Given the description of an element on the screen output the (x, y) to click on. 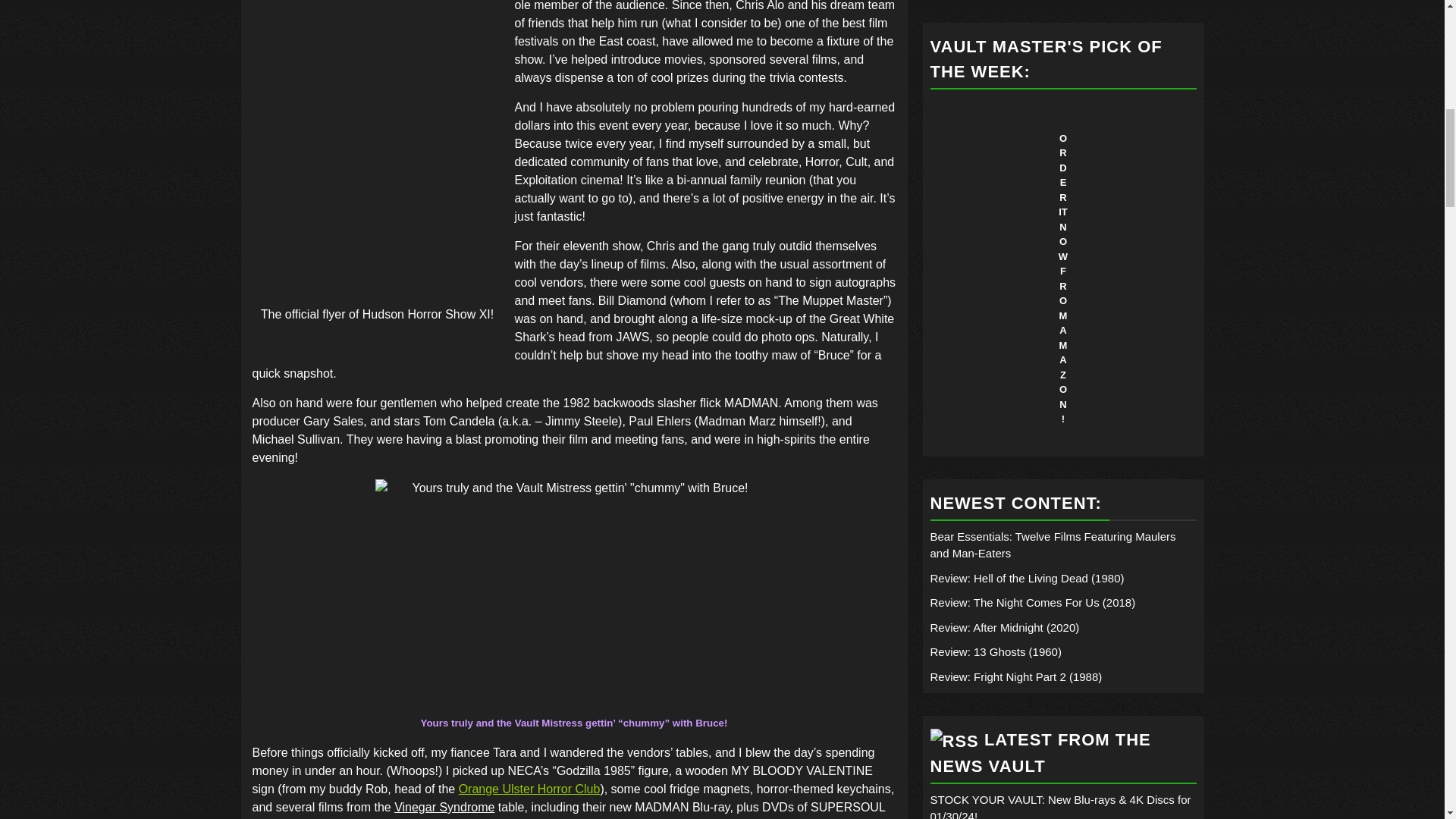
Orange Ulster Horror Club (528, 788)
Vinegar Syndrome (444, 807)
